Given the description of an element on the screen output the (x, y) to click on. 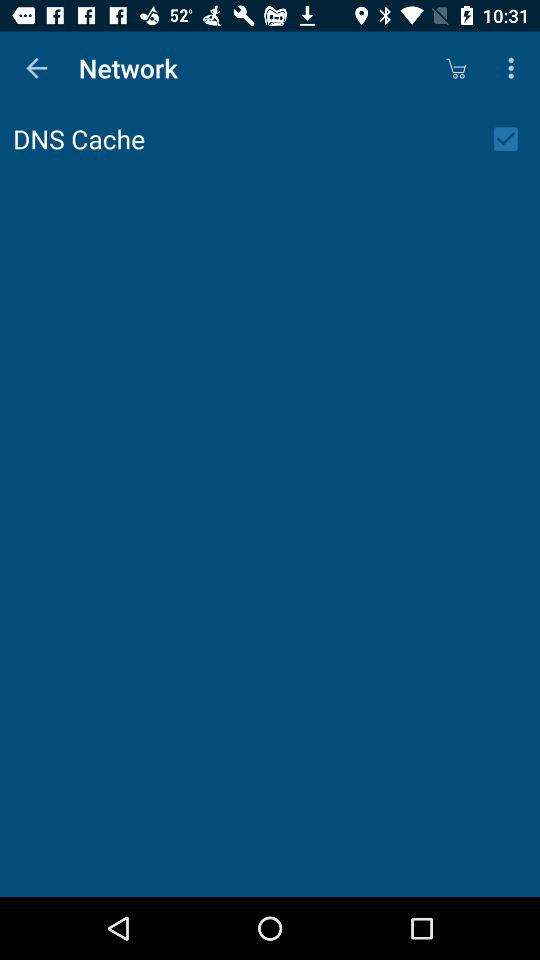
turn off icon next to network icon (455, 67)
